Given the description of an element on the screen output the (x, y) to click on. 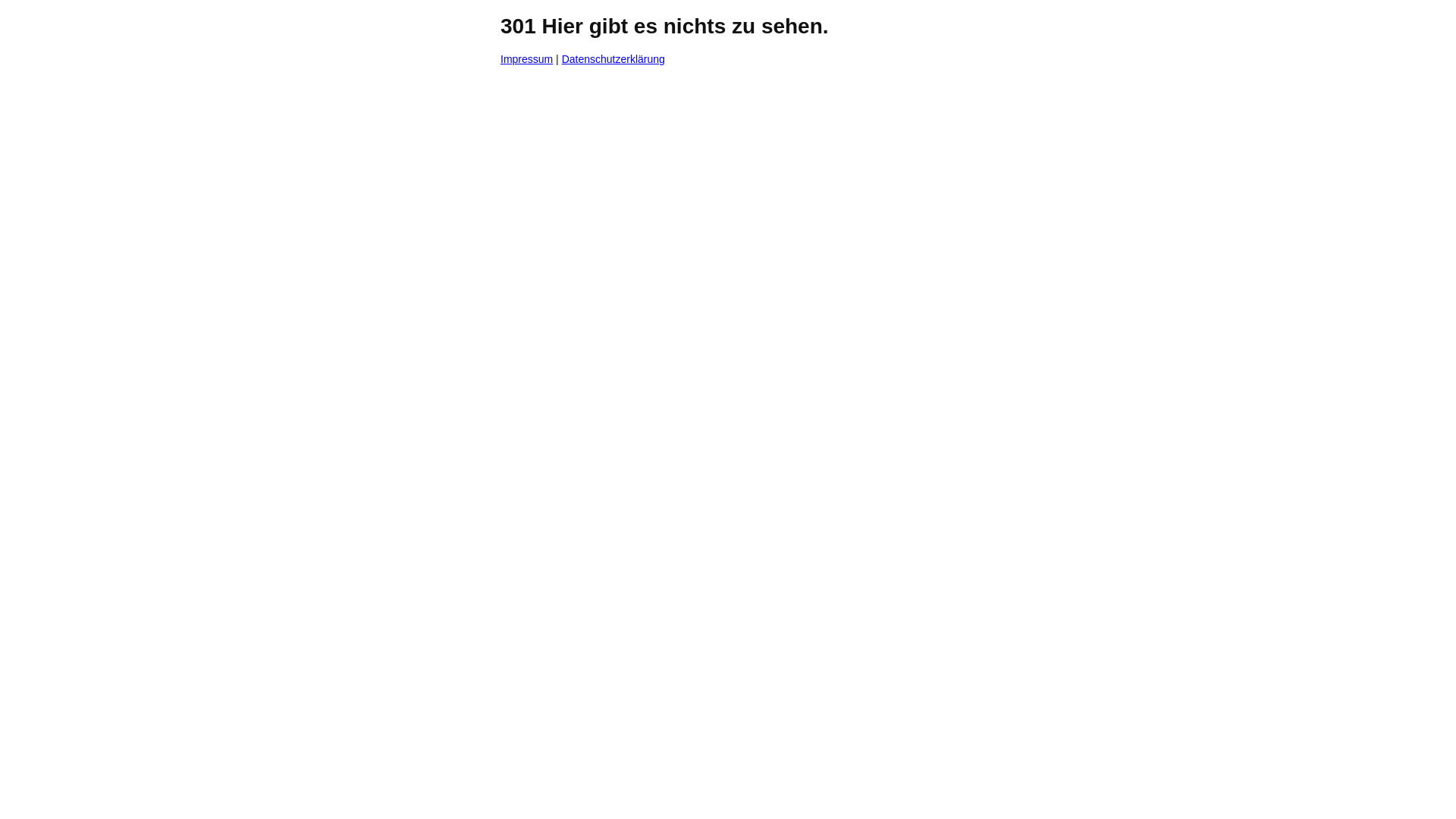
Impressum Element type: text (526, 59)
